Given the description of an element on the screen output the (x, y) to click on. 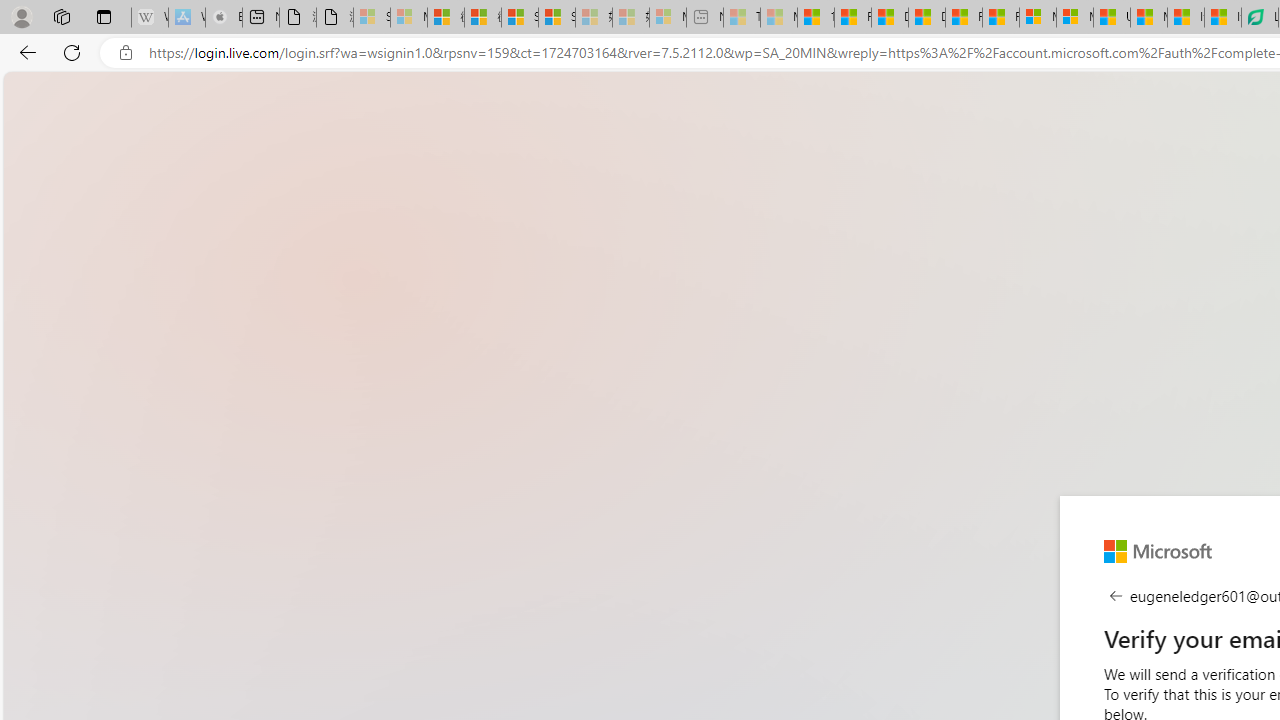
Foo BAR | Trusted Community Engagement and Contributions (1000, 17)
Sign in to your Microsoft account - Sleeping (372, 17)
Top Stories - MSN - Sleeping (742, 17)
Microsoft Services Agreement - Sleeping (408, 17)
Food and Drink - MSN (852, 17)
